Given the description of an element on the screen output the (x, y) to click on. 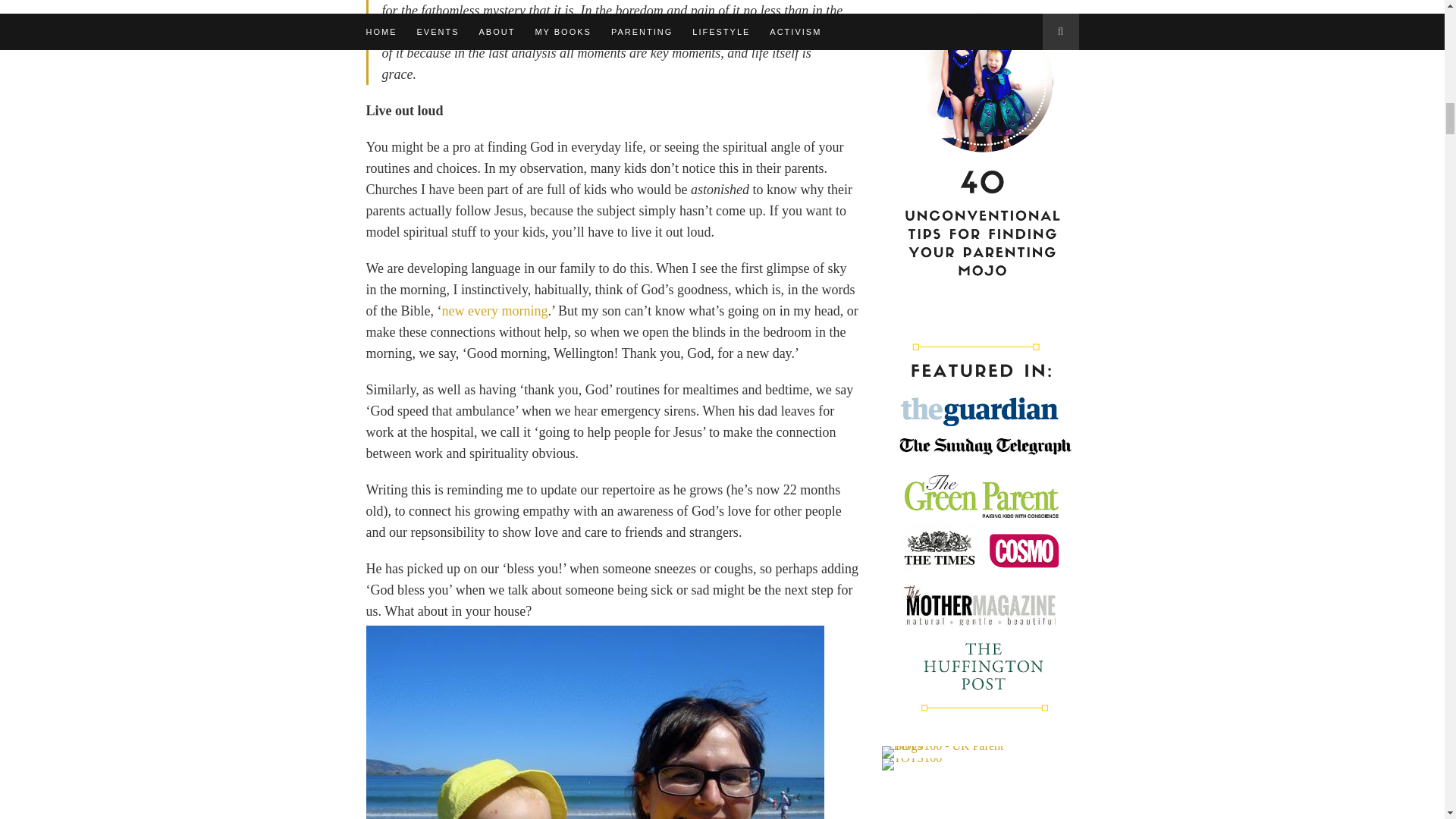
TOTS 100 - UK Parent Blogs (943, 745)
TOTS100 (911, 757)
TOTS100 (911, 764)
TOTS100 - UK Parent Blogs (943, 752)
